Given the description of an element on the screen output the (x, y) to click on. 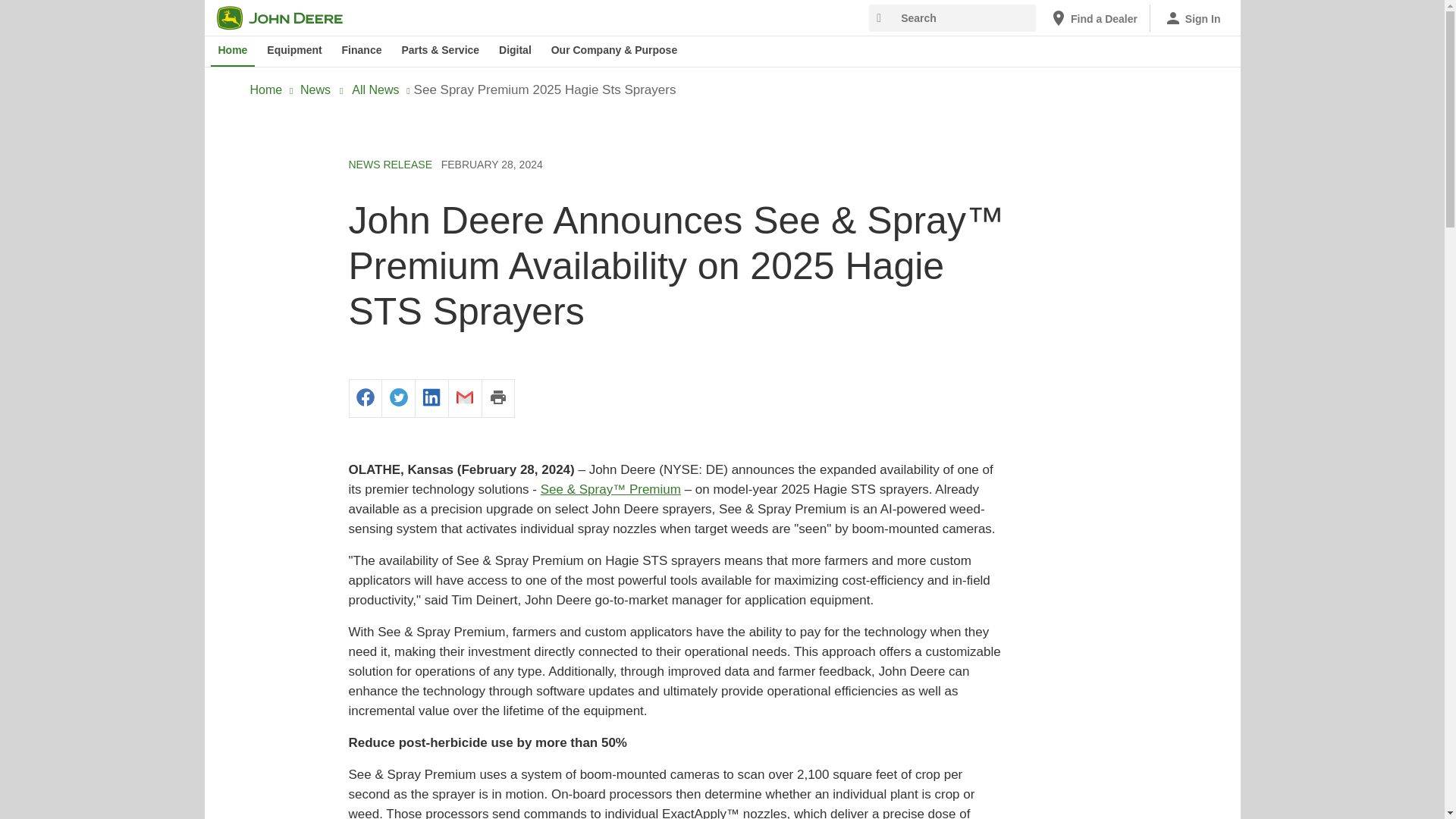
Finance (362, 51)
Digital (515, 51)
Skip to main content (214, 11)
John Deere (288, 17)
Equipment (294, 51)
Find a Dealer (1093, 17)
Home (233, 51)
Sign In (1192, 17)
